Given the description of an element on the screen output the (x, y) to click on. 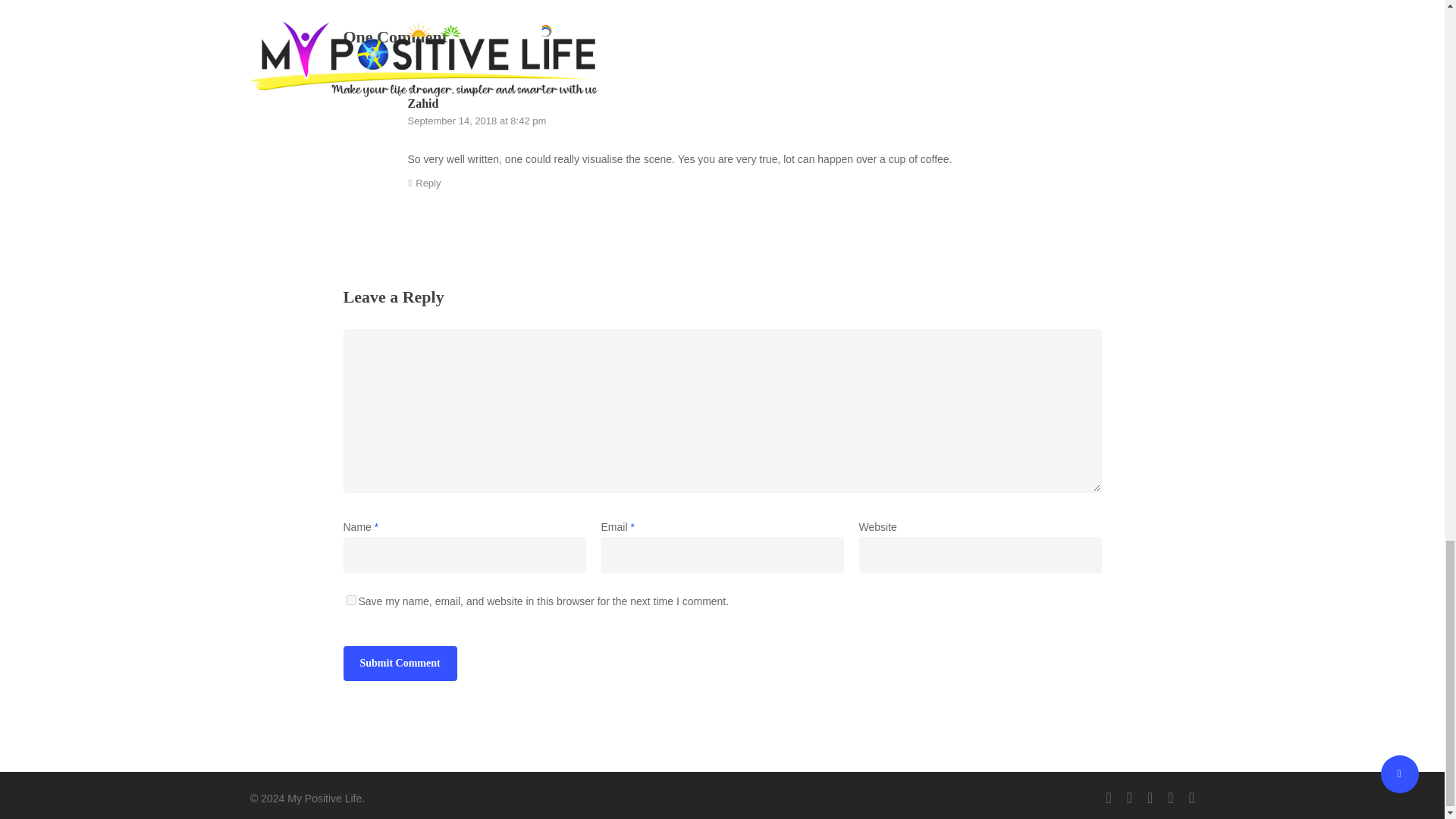
yes (350, 600)
September 14, 2018 at 8:42 pm (477, 120)
Submit Comment (399, 663)
Submit Comment (399, 663)
Reply (424, 183)
